Given the description of an element on the screen output the (x, y) to click on. 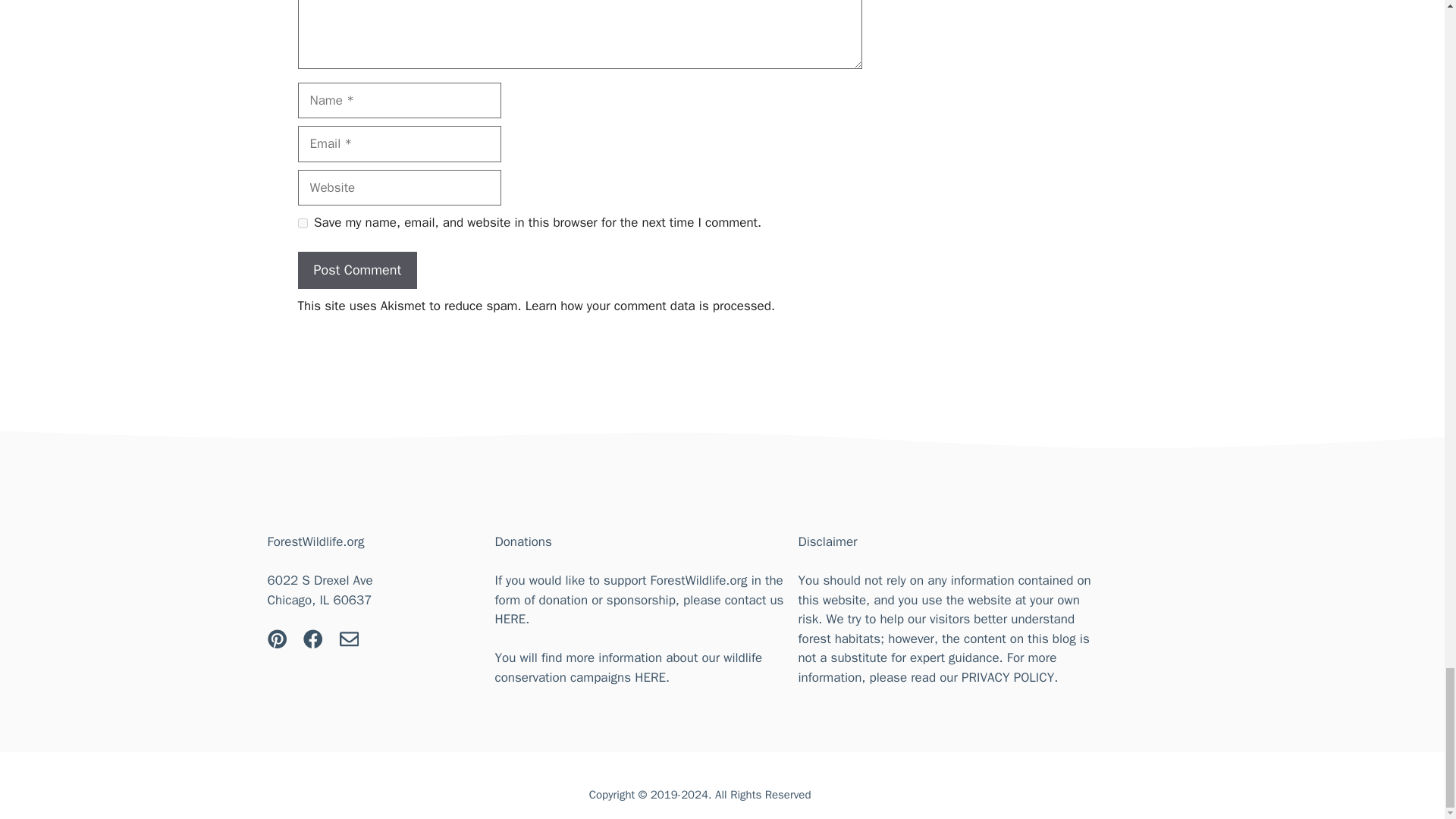
Learn how your comment data is processed (648, 305)
Post Comment (356, 270)
yes (302, 223)
Post Comment (356, 270)
